Given the description of an element on the screen output the (x, y) to click on. 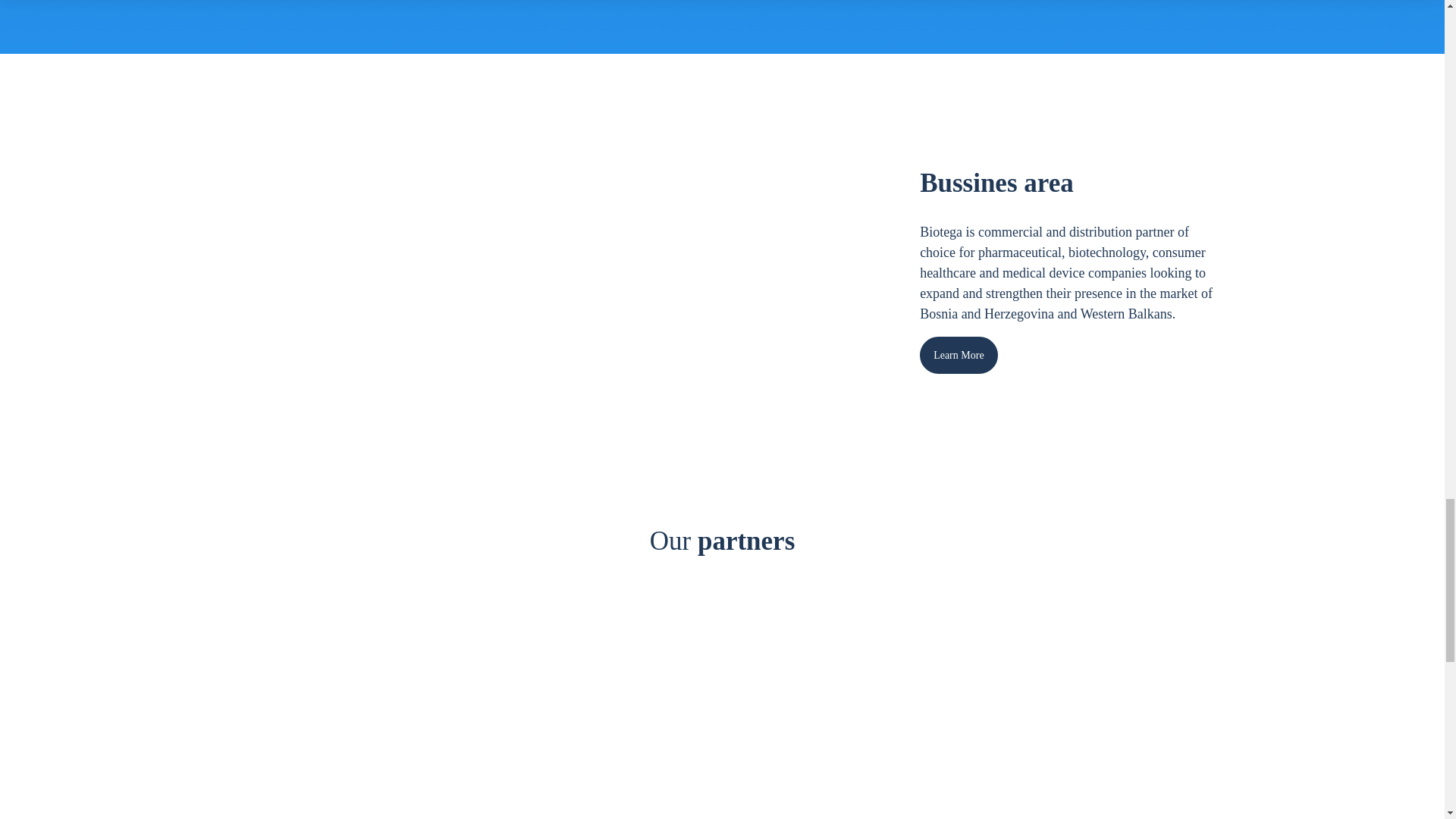
Learn More (958, 354)
